Given the description of an element on the screen output the (x, y) to click on. 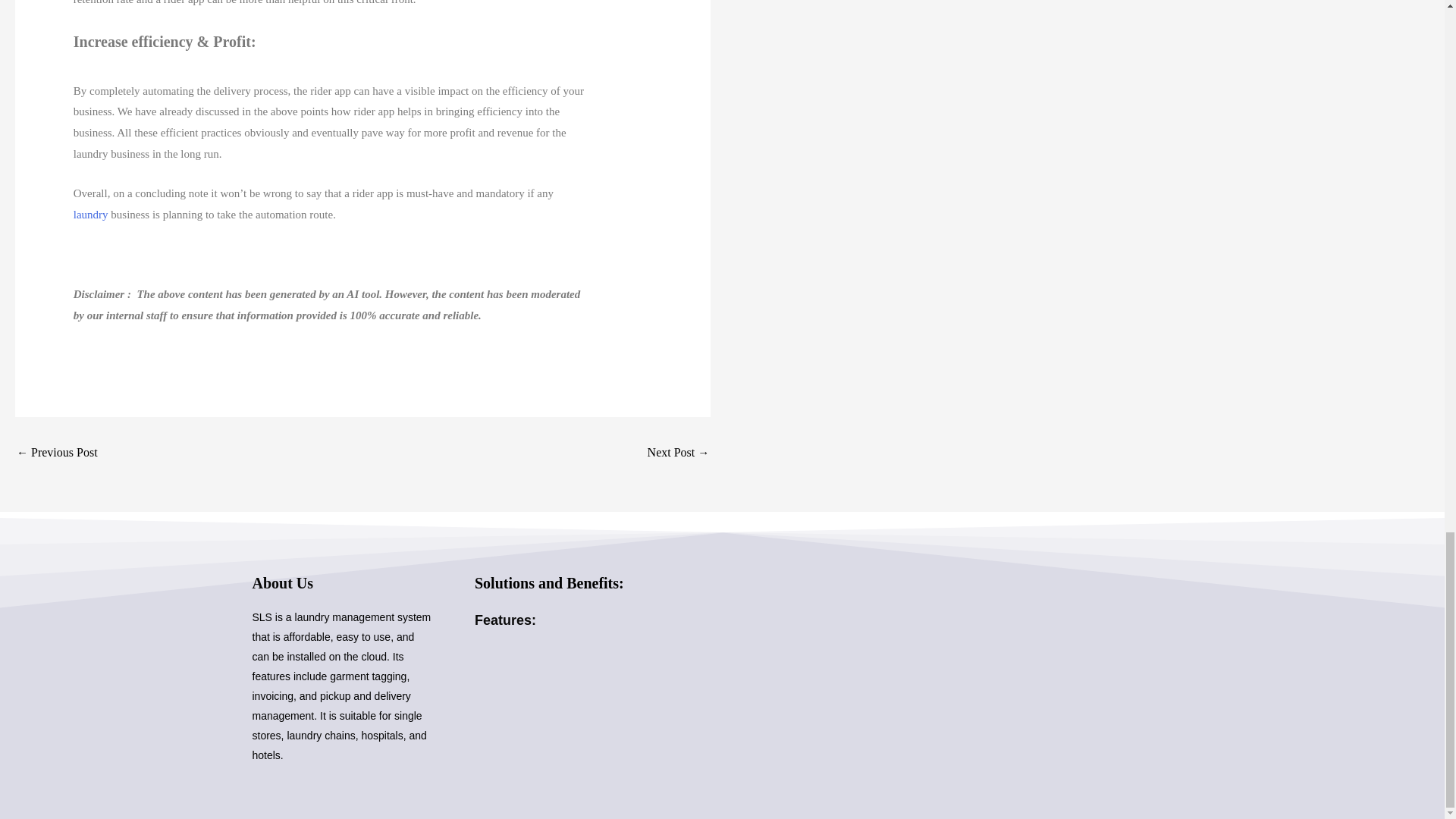
laundry (90, 214)
Why every Laundry Business needs a Customer app? (678, 452)
Demo (56, 452)
